Given the description of an element on the screen output the (x, y) to click on. 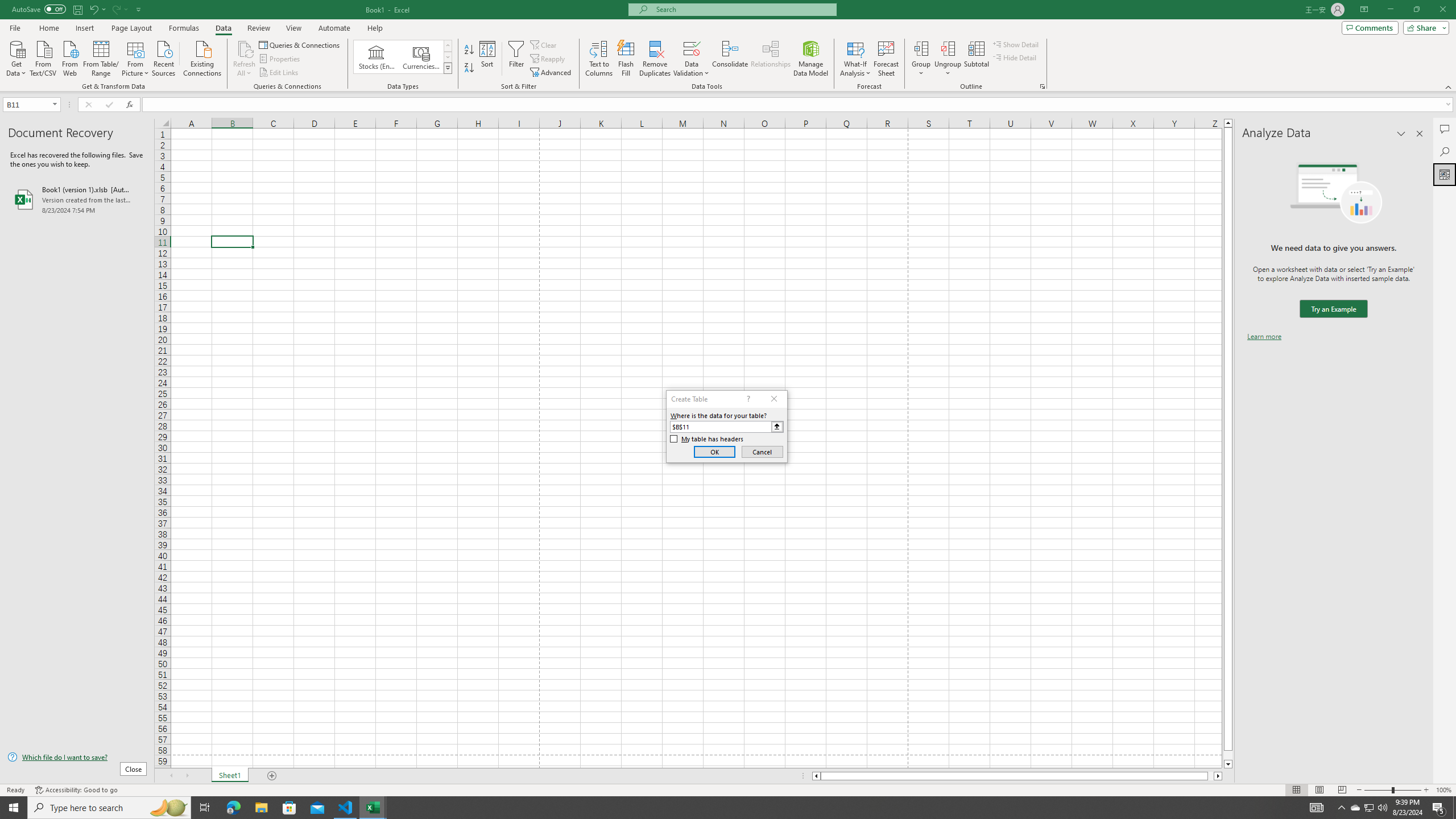
Hide Detail (1014, 56)
Formula Bar (799, 104)
Book1 (version 1).xlsb  [AutoRecovered] (77, 199)
From Picture (135, 57)
Existing Connections (202, 57)
Data Types (448, 67)
